Given the description of an element on the screen output the (x, y) to click on. 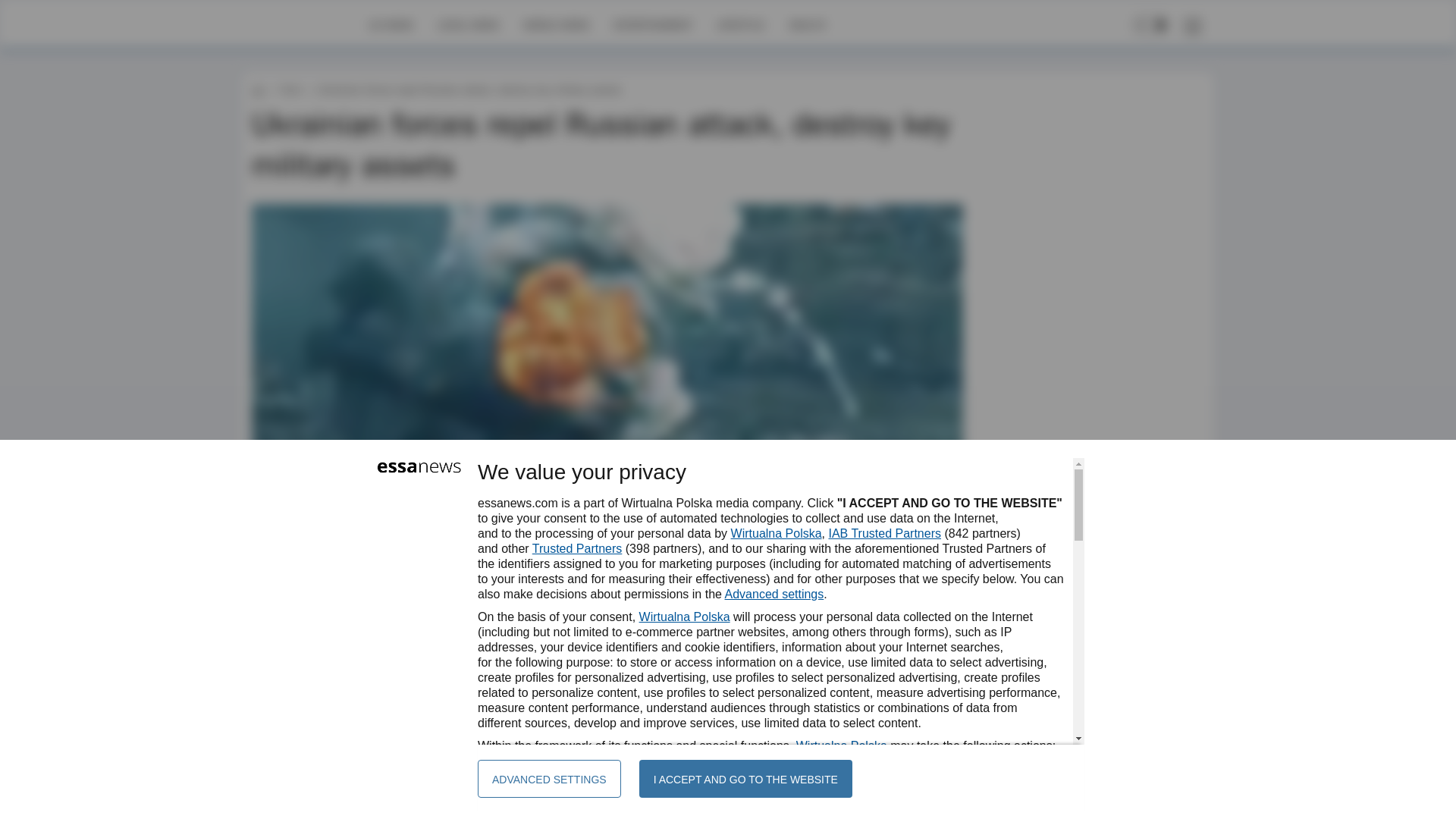
LIFESTYLE (740, 24)
Tech (290, 89)
Tech (290, 89)
MT (296, 641)
HEALTH (807, 24)
LOCAL NEWS (468, 24)
ENTERTAINMENT (652, 24)
SHARE (936, 649)
WORLD NEWS (555, 24)
US NEWS (390, 24)
Homepage (305, 24)
MT (296, 641)
essanews.com (257, 89)
